Given the description of an element on the screen output the (x, y) to click on. 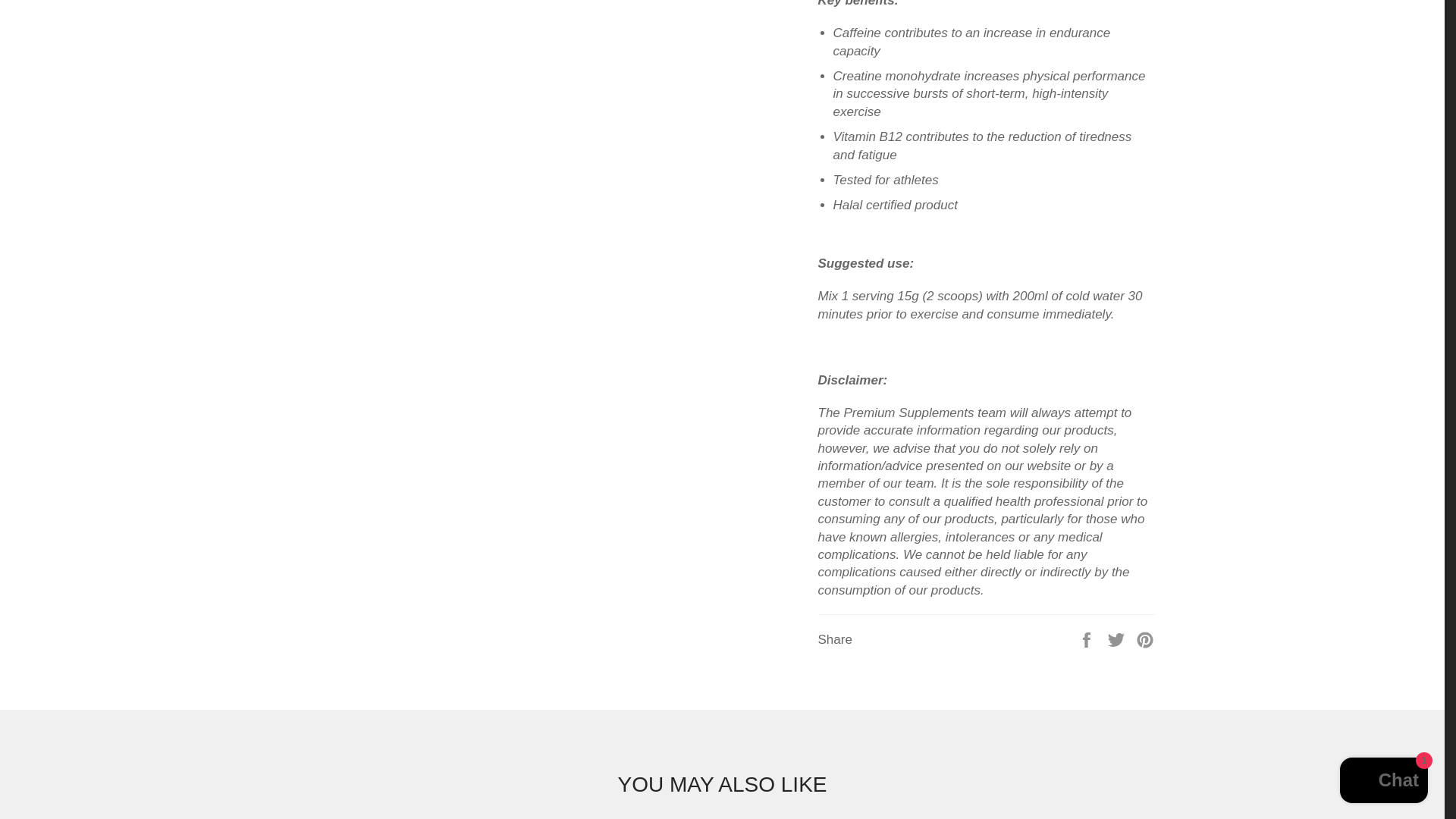
Share on Facebook (1088, 638)
Tweet on Twitter (1117, 638)
Pin on Pinterest (1144, 638)
